Given the description of an element on the screen output the (x, y) to click on. 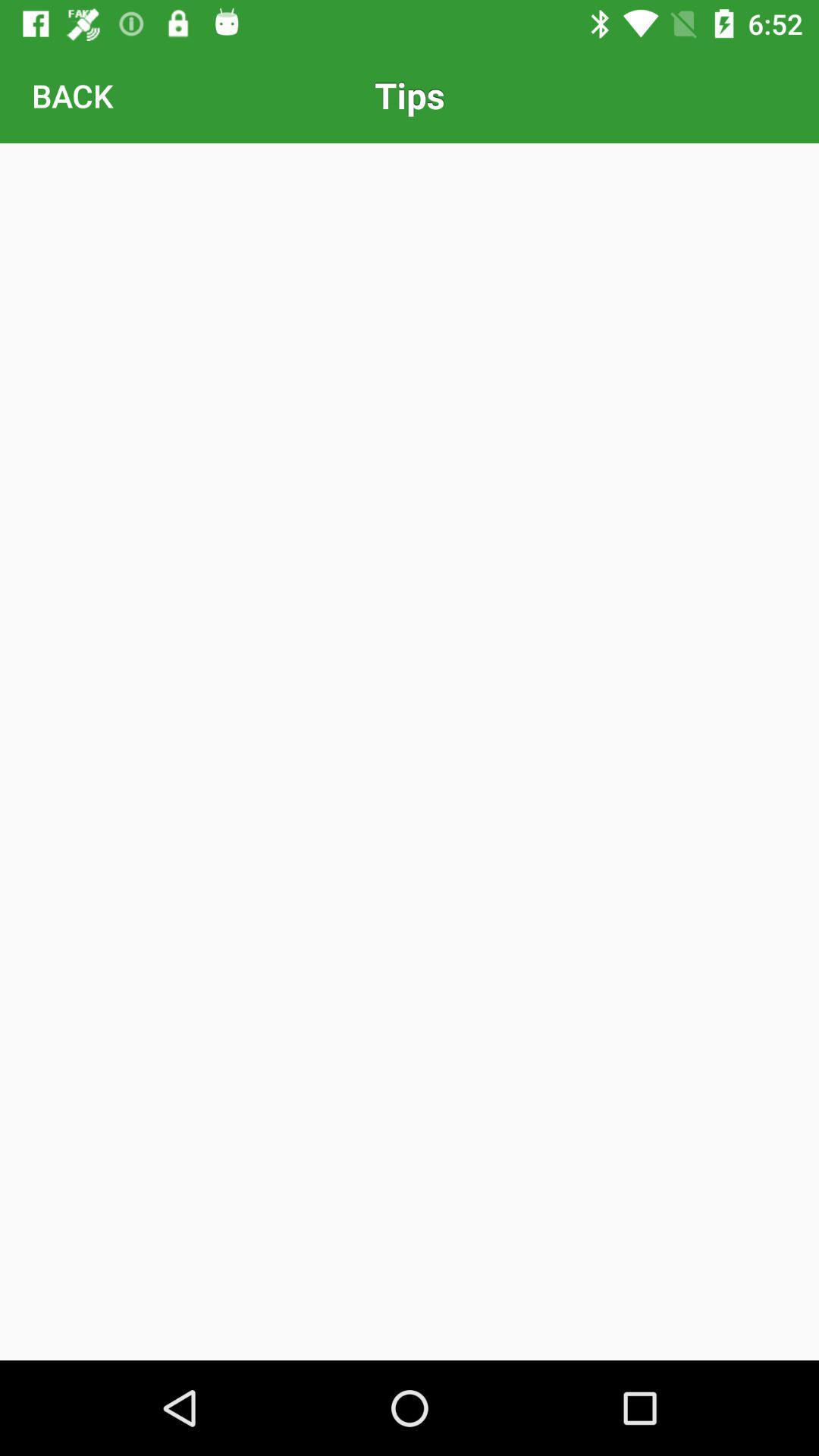
choose the back item (72, 95)
